Given the description of an element on the screen output the (x, y) to click on. 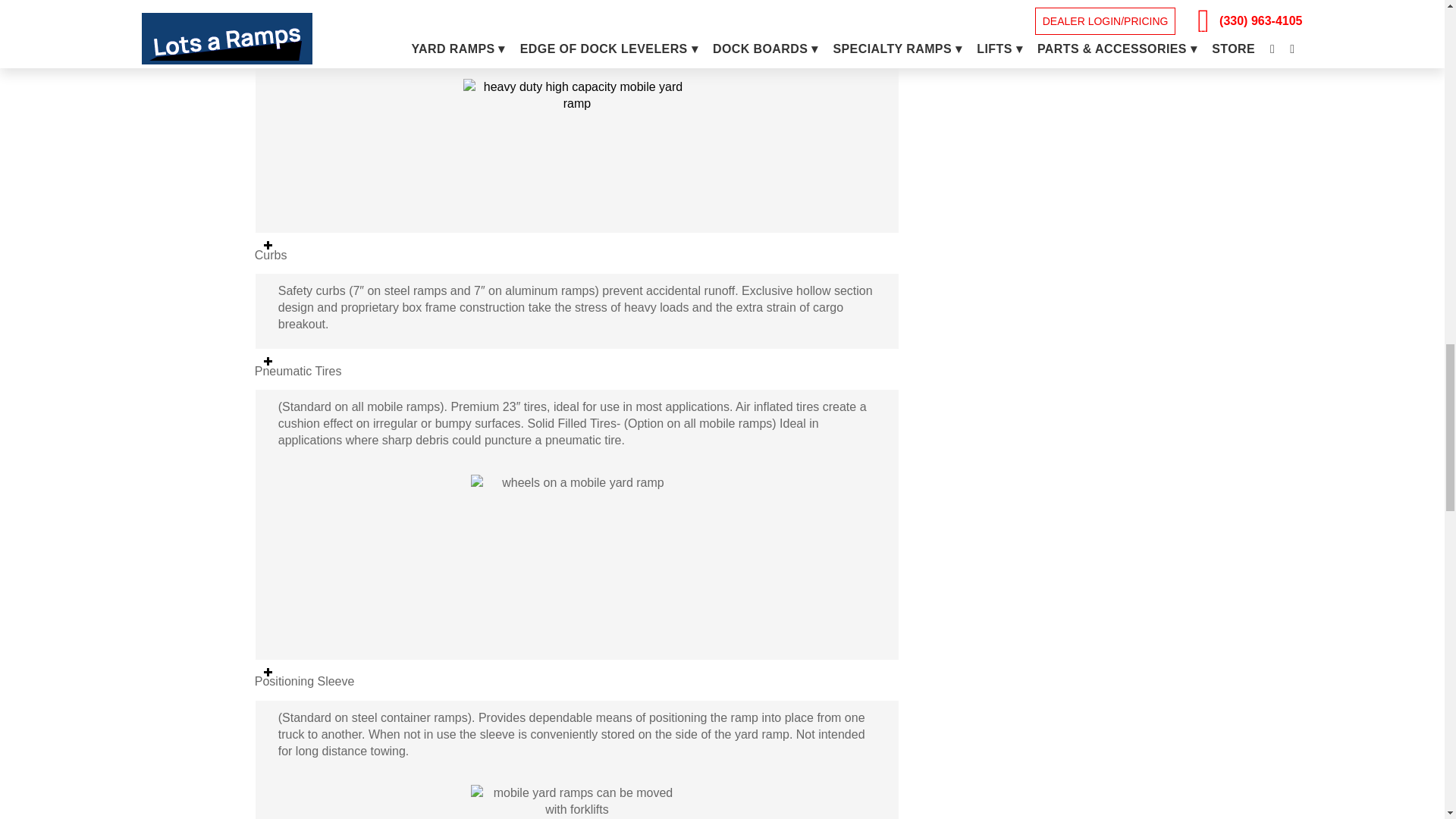
high strength steel makes these mobile yard ramps heavy duty (576, 142)
fork lift attachment for mobile yard ramps (576, 798)
